Given the description of an element on the screen output the (x, y) to click on. 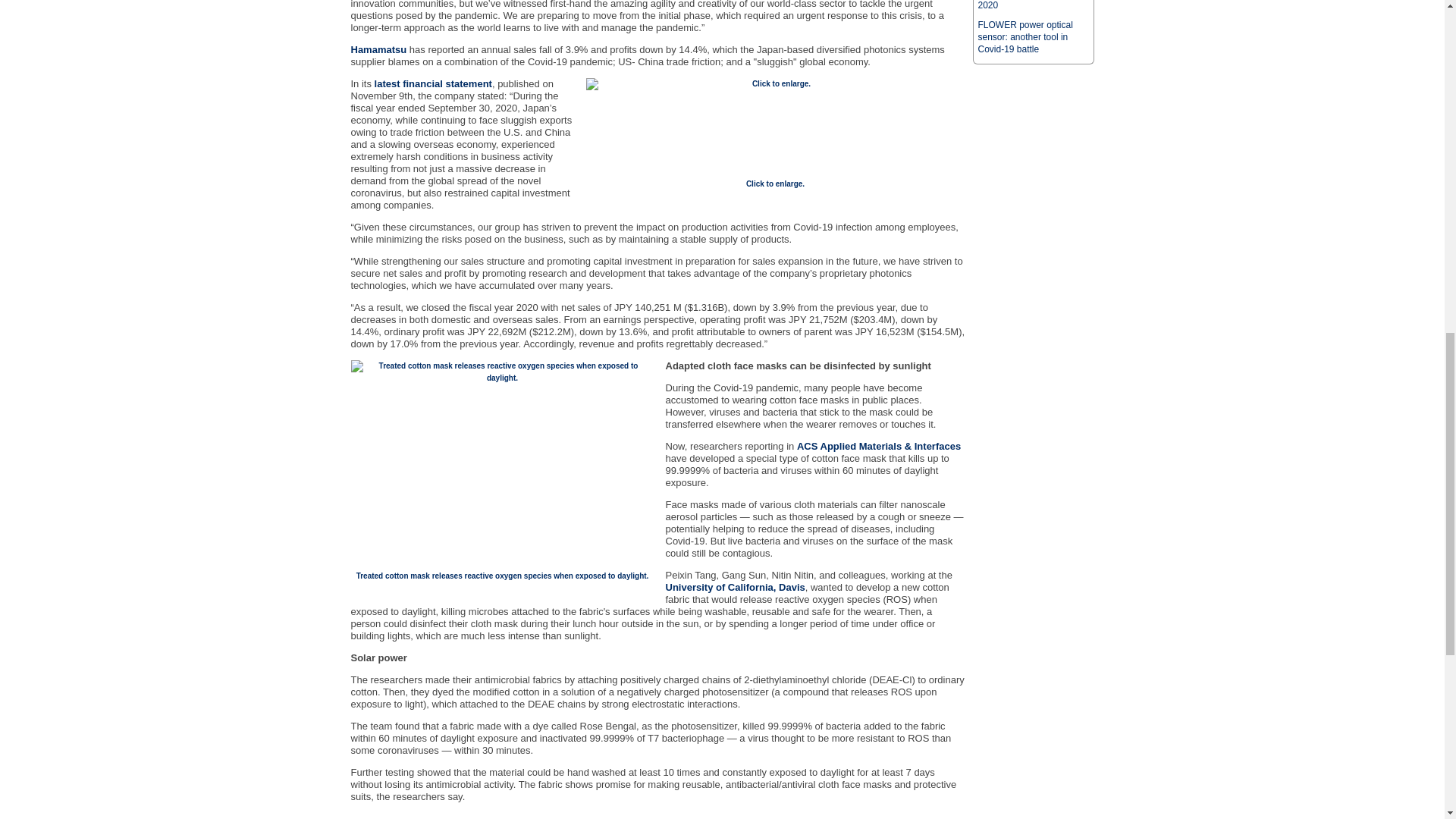
Click to enlarge. (774, 123)
Click to enlarge. (775, 183)
